Given the description of an element on the screen output the (x, y) to click on. 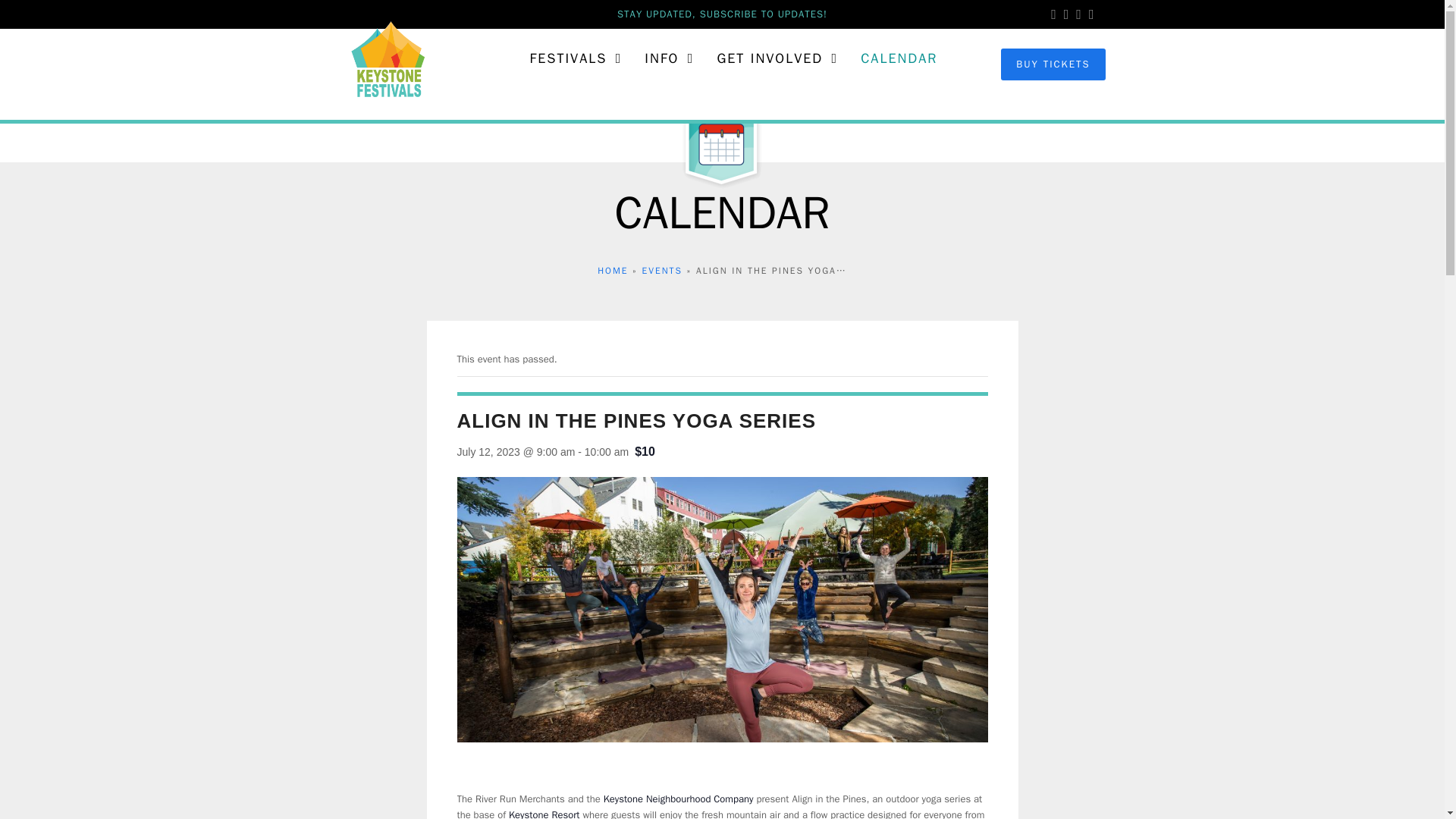
GET INVOLVED (776, 58)
Subscribe (722, 13)
STAY UPDATED, SUBSCRIBE TO UPDATES! (722, 13)
INFO (668, 58)
HOME (611, 270)
EVENTS (662, 270)
Keystone Neighbourhood Company (679, 798)
FESTIVALS (575, 58)
CALENDAR (898, 58)
BUY TICKETS (1051, 64)
